Given the description of an element on the screen output the (x, y) to click on. 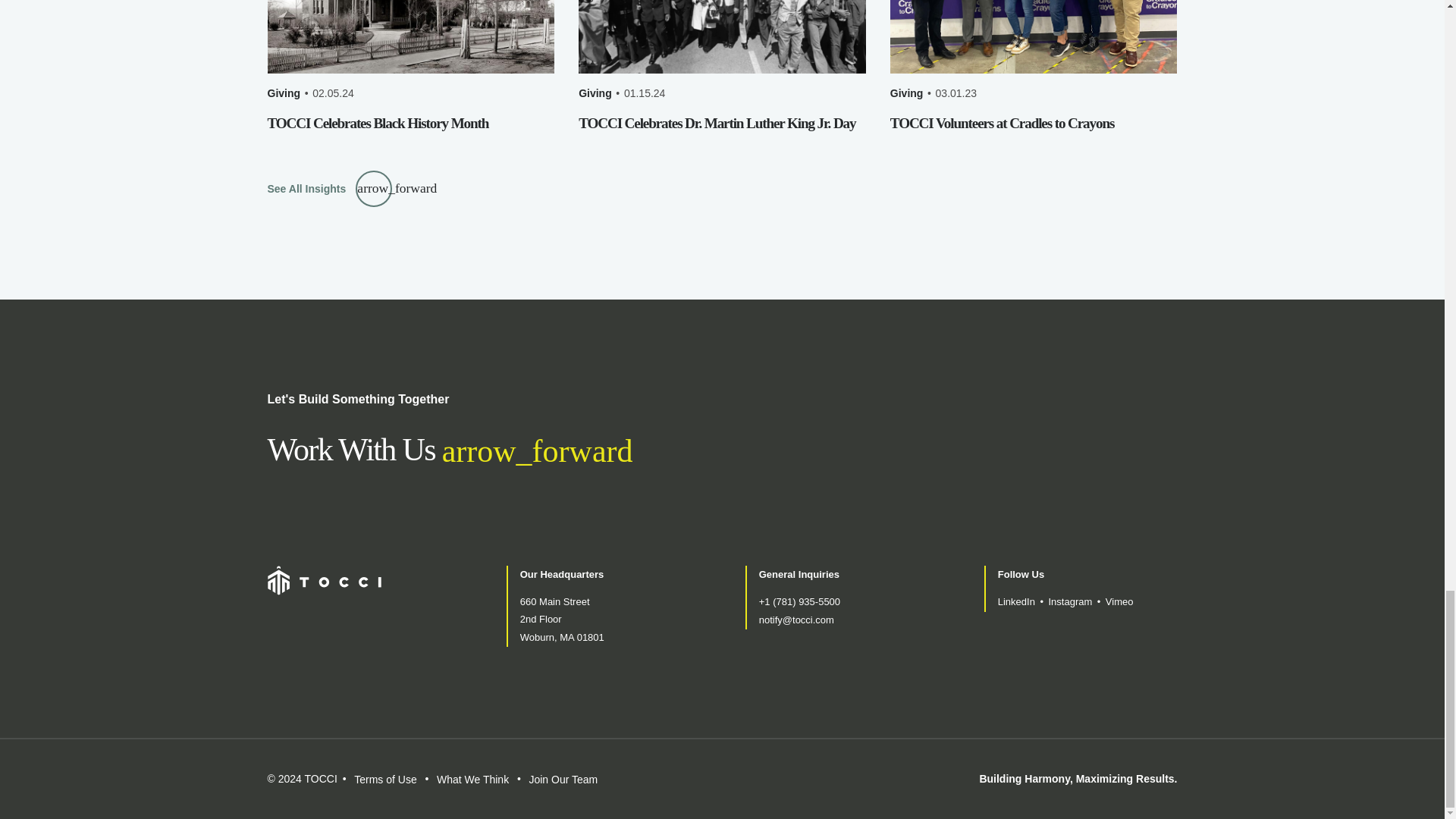
Join Our Team (562, 779)
TOCCI Celebrates Dr. Martin Luther King Jr. Day (717, 123)
TOCCI Volunteers at Cradles to Crayons (1001, 123)
LinkedIn (1016, 601)
Vimeo (1119, 601)
Giving (906, 92)
Giving (594, 92)
See All Insights (328, 188)
What We Think (472, 779)
Terms of Use (384, 779)
Instagram (1070, 601)
Giving (282, 92)
TOCCI Celebrates Black History Month (376, 123)
